Given the description of an element on the screen output the (x, y) to click on. 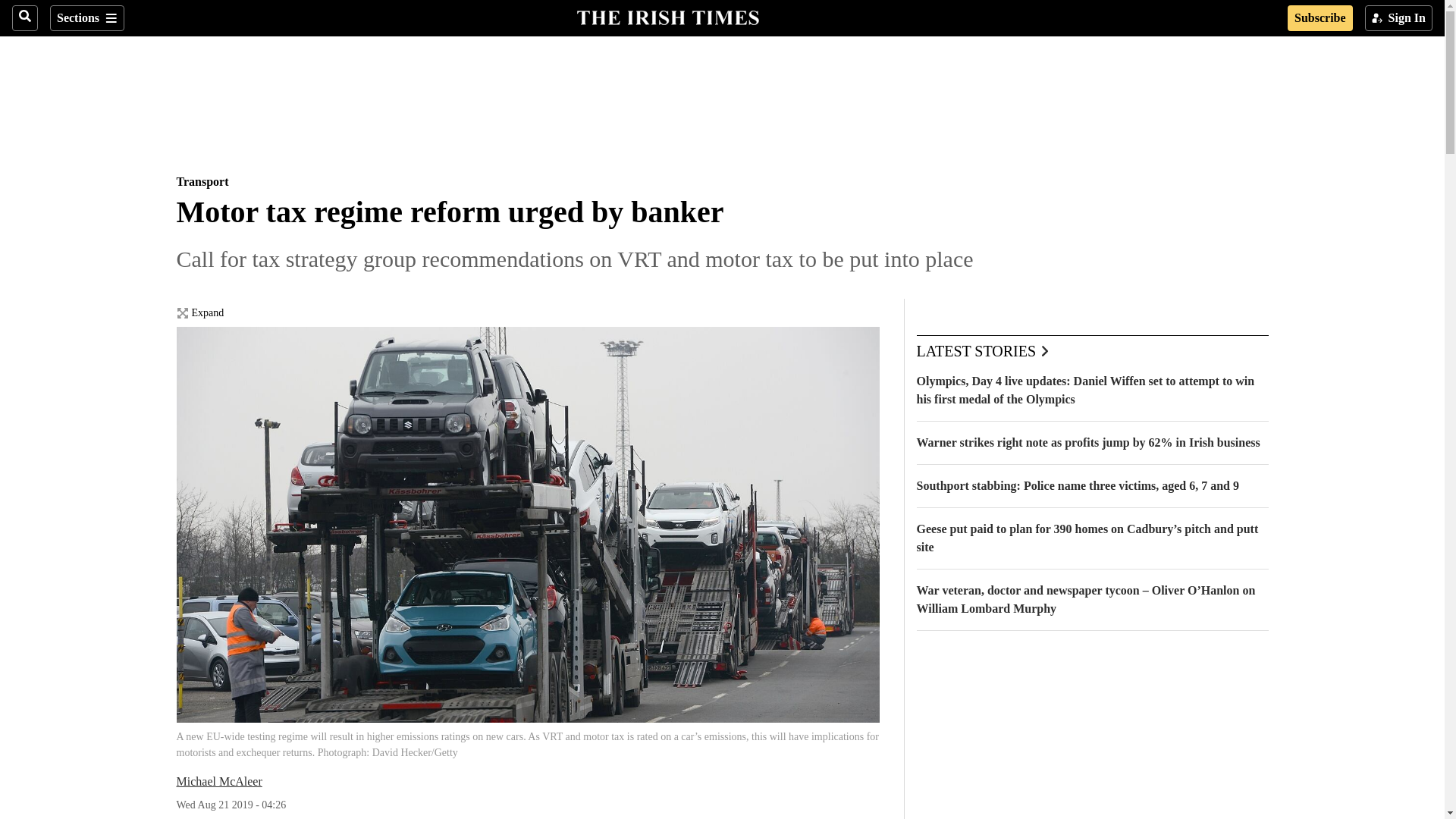
Subscribe (1319, 17)
The Irish Times (667, 16)
Sections (86, 17)
Sign In (1398, 17)
